Given the description of an element on the screen output the (x, y) to click on. 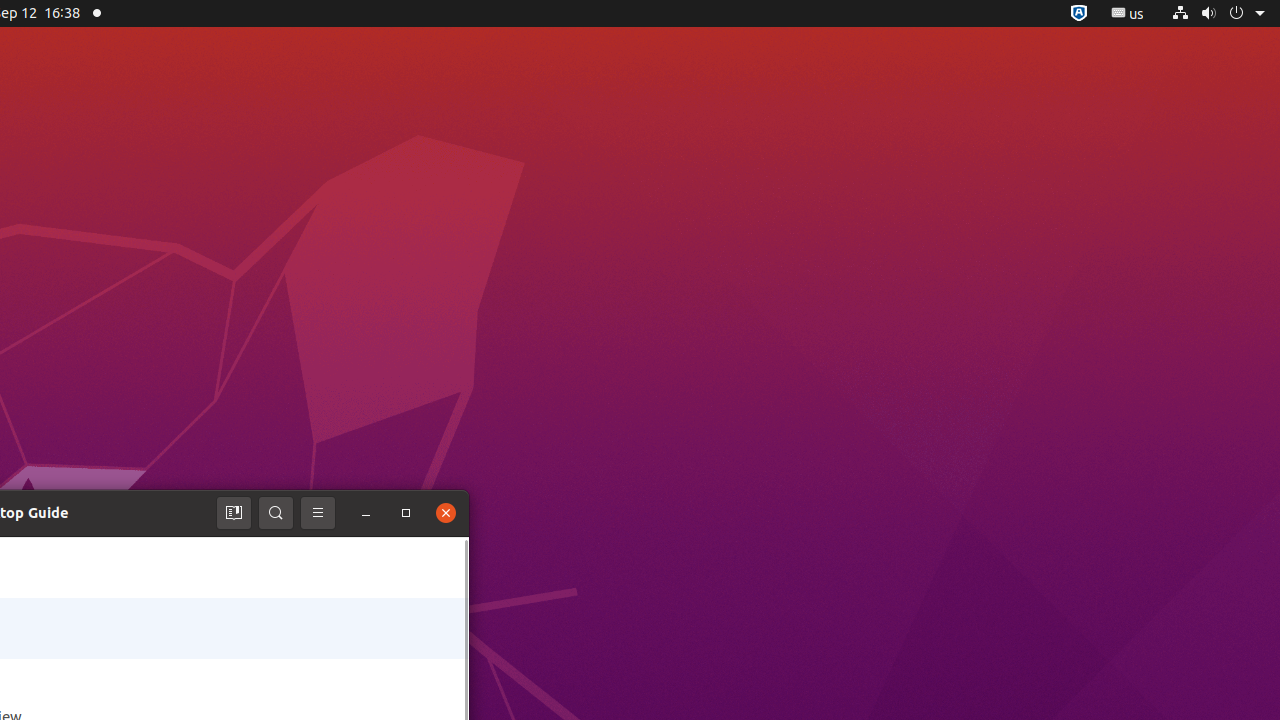
Close Element type: push-button (446, 513)
Maximize Element type: push-button (406, 513)
Find Element type: toggle-button (276, 513)
